Given the description of an element on the screen output the (x, y) to click on. 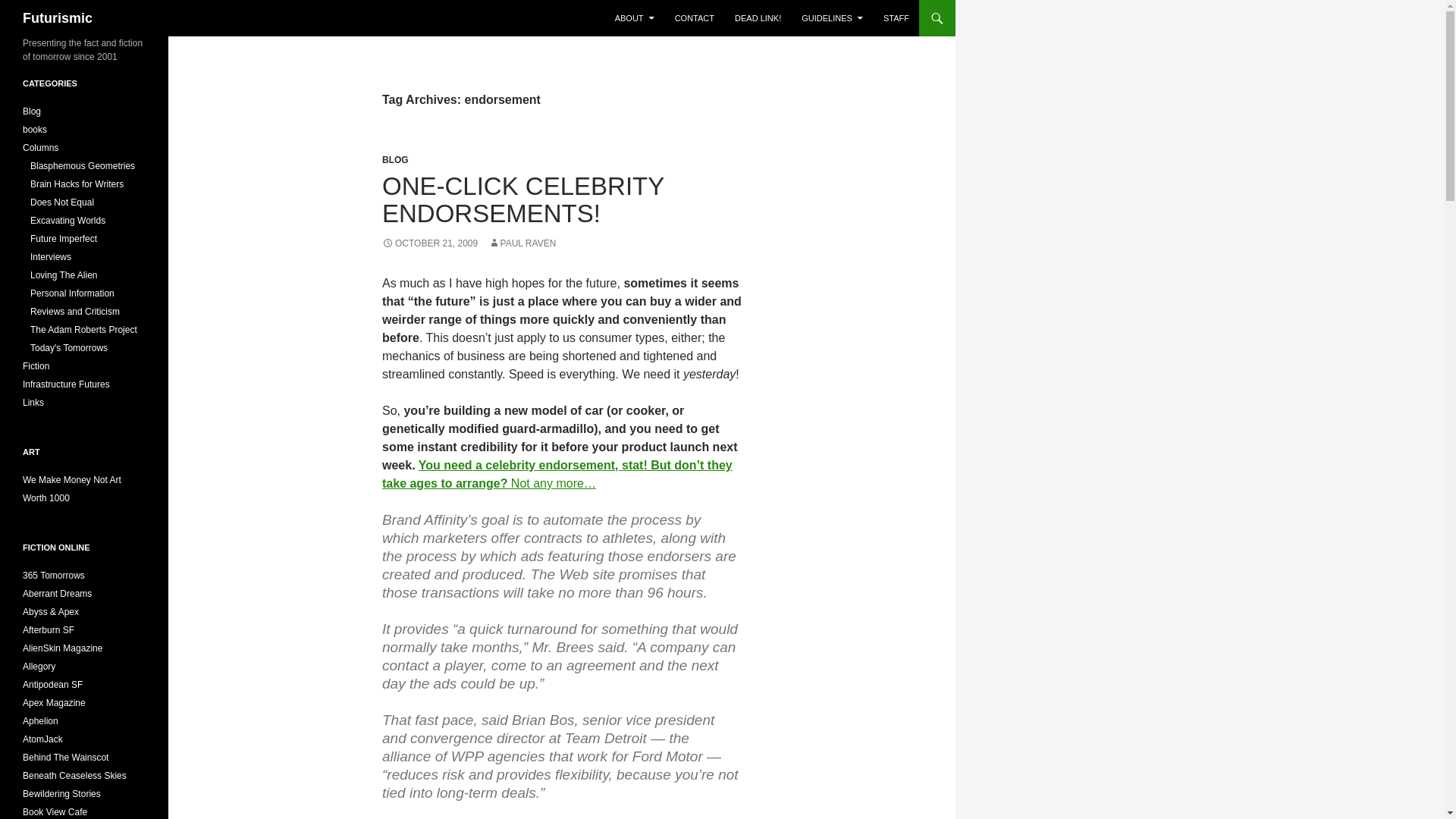
Reviews and Criticism (74, 311)
STAFF (896, 18)
Does Not Equal (62, 202)
GUIDELINES (832, 18)
Interviews (50, 256)
Fiction (36, 366)
DEAD LINK! (757, 18)
ABOUT (634, 18)
Infrastructure Futures (66, 384)
Personal Information (72, 293)
BLOG (395, 159)
Loving The Alien (63, 275)
AtomJack Science Fiction Magazine (42, 738)
PAUL RAVEN (521, 243)
books (34, 129)
